Given the description of an element on the screen output the (x, y) to click on. 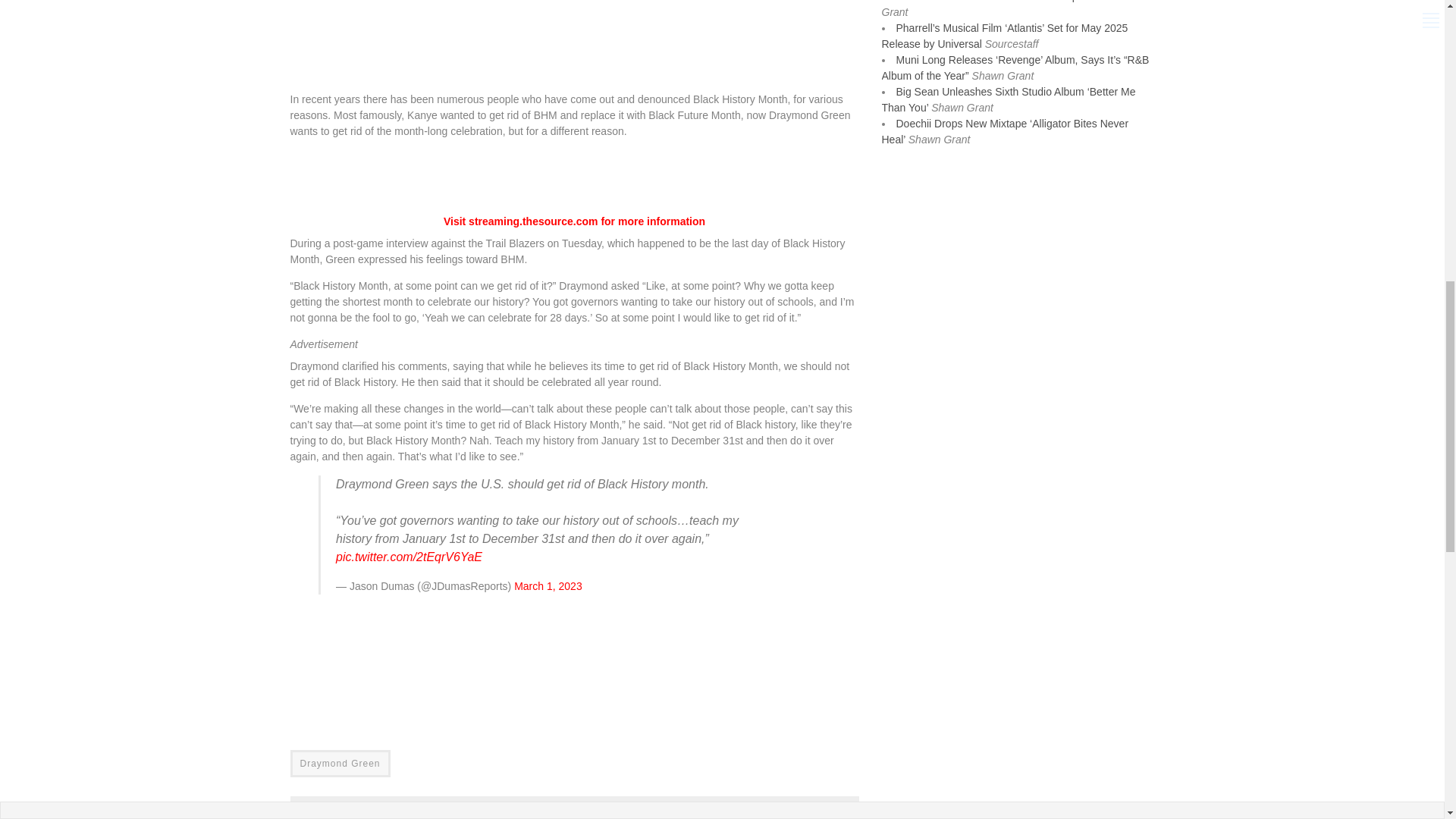
Draymond Green (339, 763)
Visit streaming.thesource.com for more information (574, 221)
March 1, 2023 (547, 585)
